Given the description of an element on the screen output the (x, y) to click on. 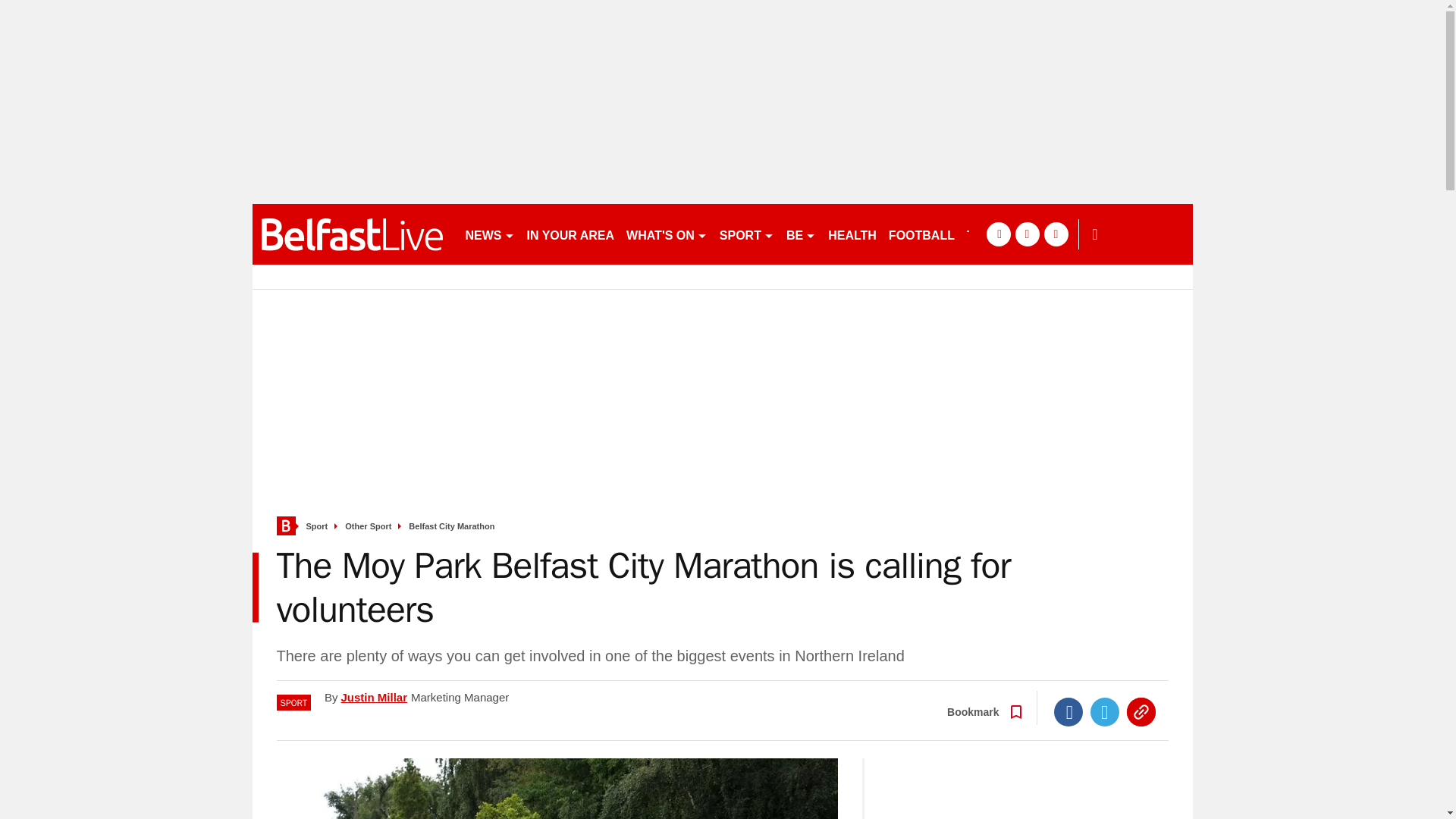
instagram (1055, 233)
Twitter (1104, 711)
WHAT'S ON (666, 233)
twitter (1026, 233)
NEWS (490, 233)
IN YOUR AREA (569, 233)
belfastlive (351, 233)
Facebook (1068, 711)
facebook (997, 233)
SPORT (746, 233)
